Given the description of an element on the screen output the (x, y) to click on. 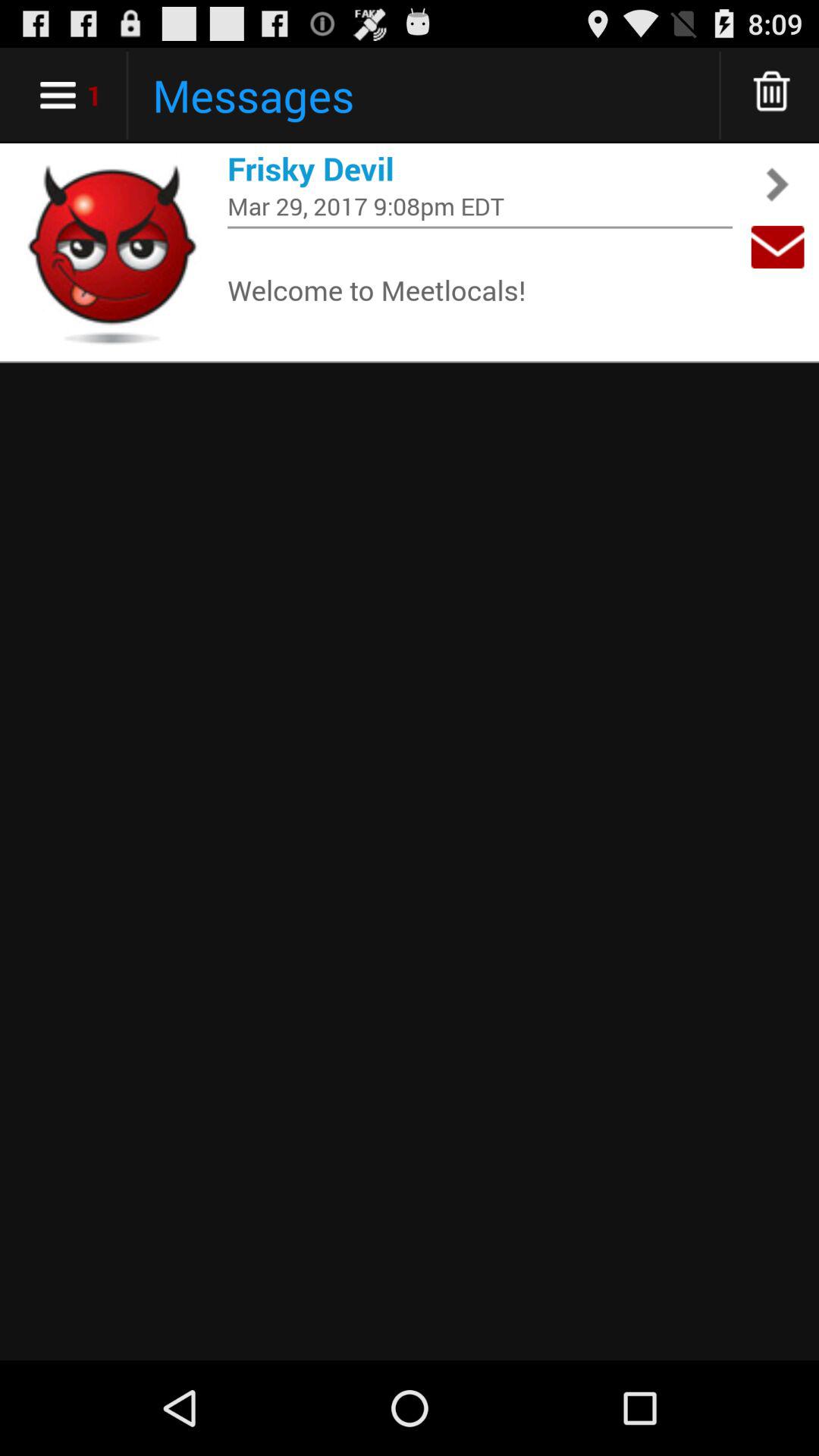
turn off the icon below the frisky devil icon (479, 205)
